Given the description of an element on the screen output the (x, y) to click on. 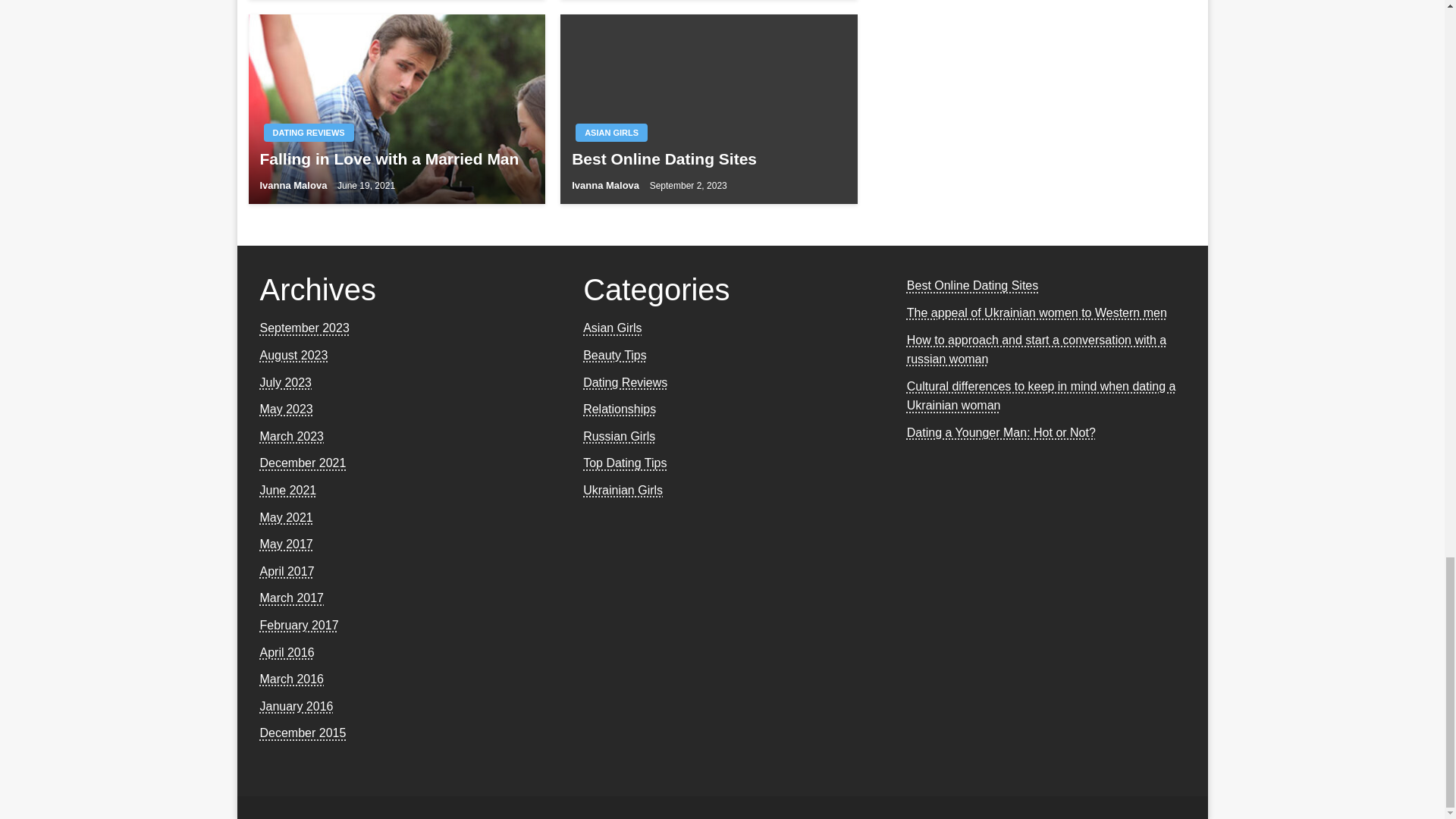
Best Online Dating Sites (708, 158)
Falling in Love with a Married Man (396, 158)
Ivanna Malova (294, 184)
ASIAN GIRLS (611, 132)
DATING REVIEWS (308, 132)
